Given the description of an element on the screen output the (x, y) to click on. 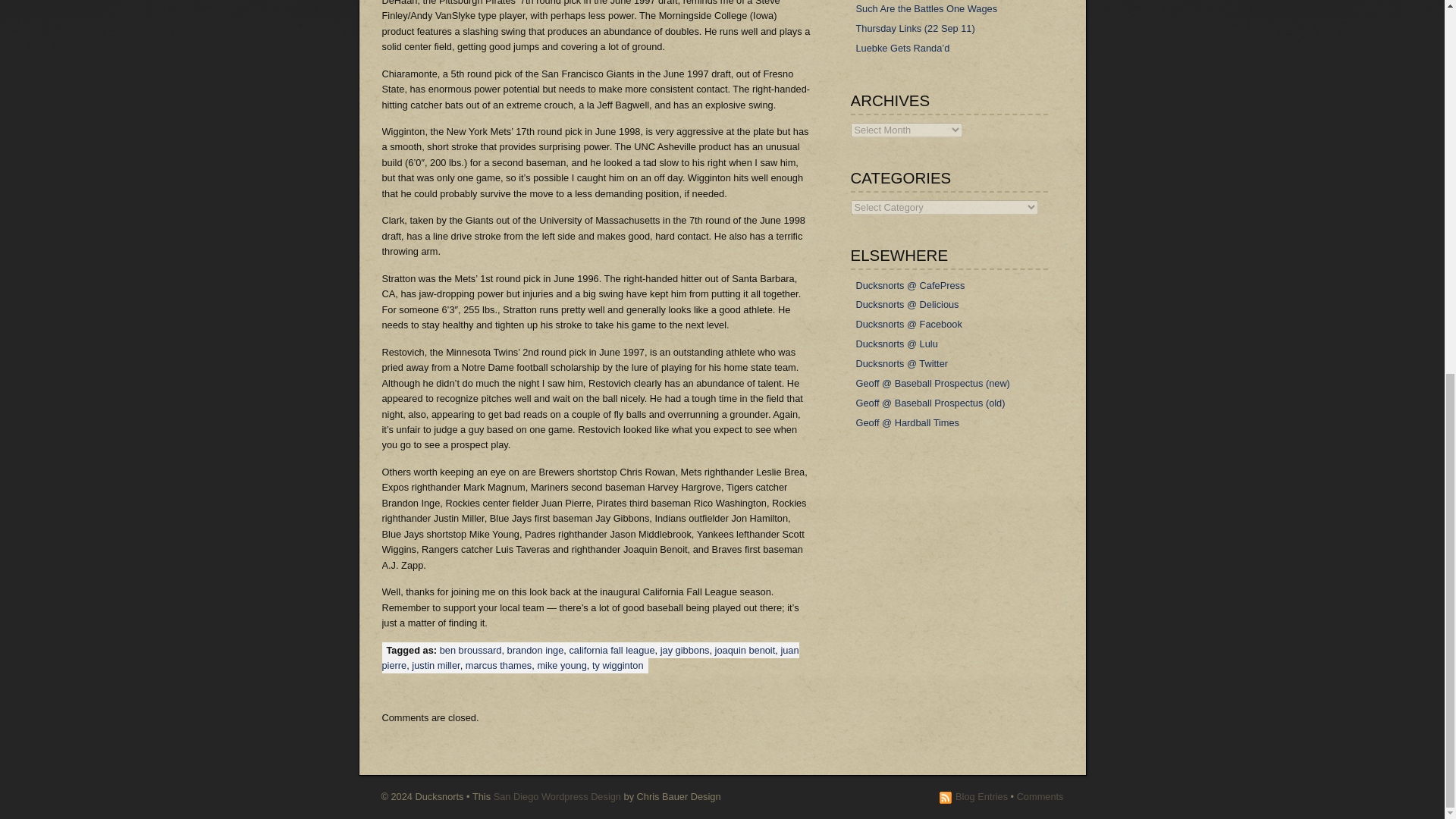
jay gibbons (685, 650)
joaquin benoit (745, 650)
Ducksnorts links and commentary (906, 304)
california fall league (611, 650)
juan pierre (590, 657)
Such Are the Battles One Wages (926, 8)
marcus thames (498, 665)
Such Are the Battles One Wages (926, 8)
Follow Ducksnorts on Facebook (908, 324)
ty wigginton (617, 665)
brandon inge (535, 650)
T-shirts, caps, and more (910, 284)
justin miller (436, 665)
ben broussard (470, 650)
mike young (561, 665)
